Given the description of an element on the screen output the (x, y) to click on. 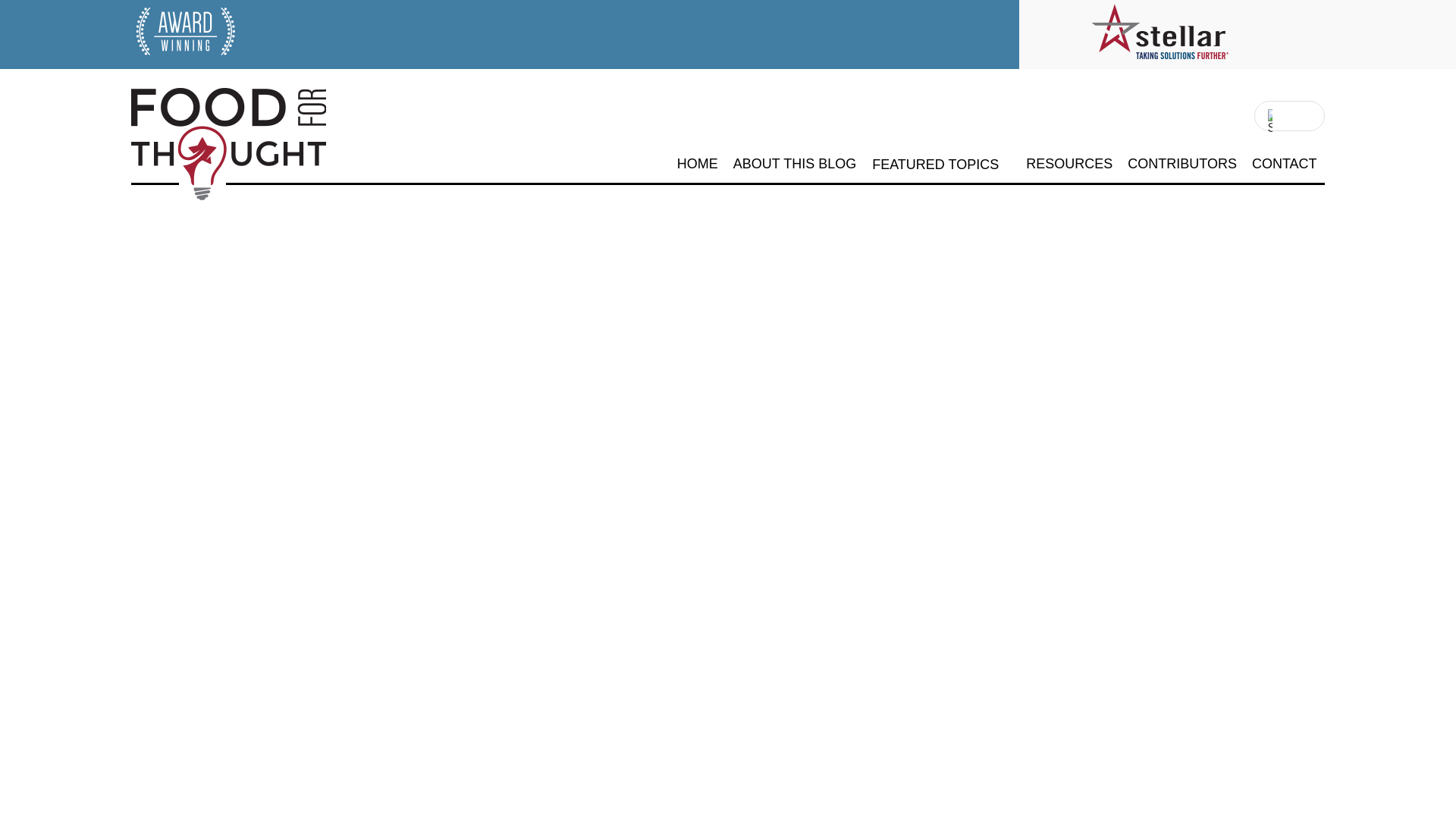
Stellar Food for Thought (200, 205)
FEATURED TOPICS (935, 164)
CONTACT (1284, 163)
CONTRIBUTORS (1181, 163)
HOME (697, 163)
ABOUT THIS BLOG (794, 163)
RESOURCES (1069, 163)
